Given the description of an element on the screen output the (x, y) to click on. 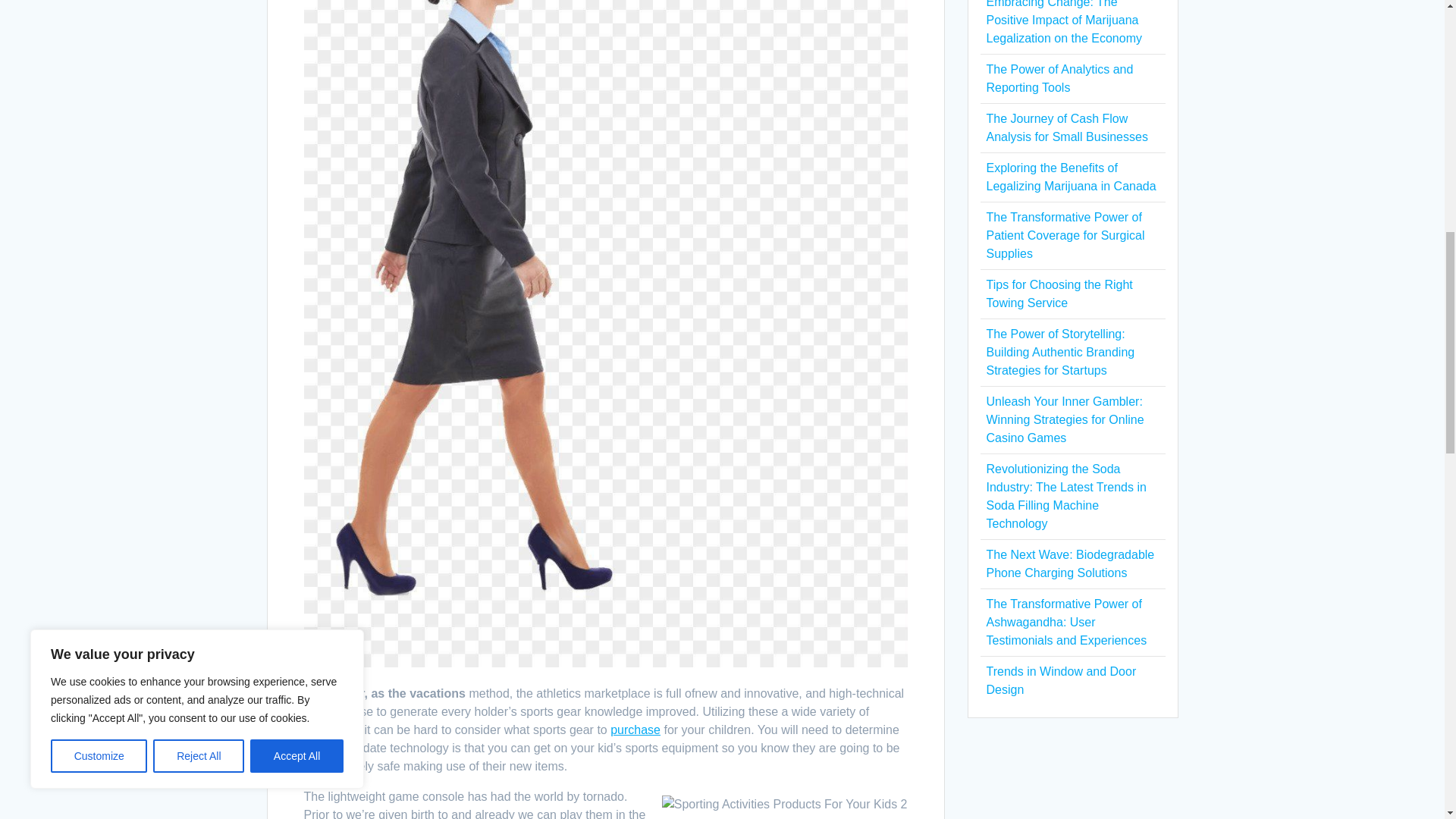
The Journey of Cash Flow Analysis for Small Businesses (1066, 127)
The Power of Analytics and Reporting Tools (1058, 78)
Exploring the Benefits of Legalizing Marijuana in Canada (1070, 176)
purchase (635, 729)
